Given the description of an element on the screen output the (x, y) to click on. 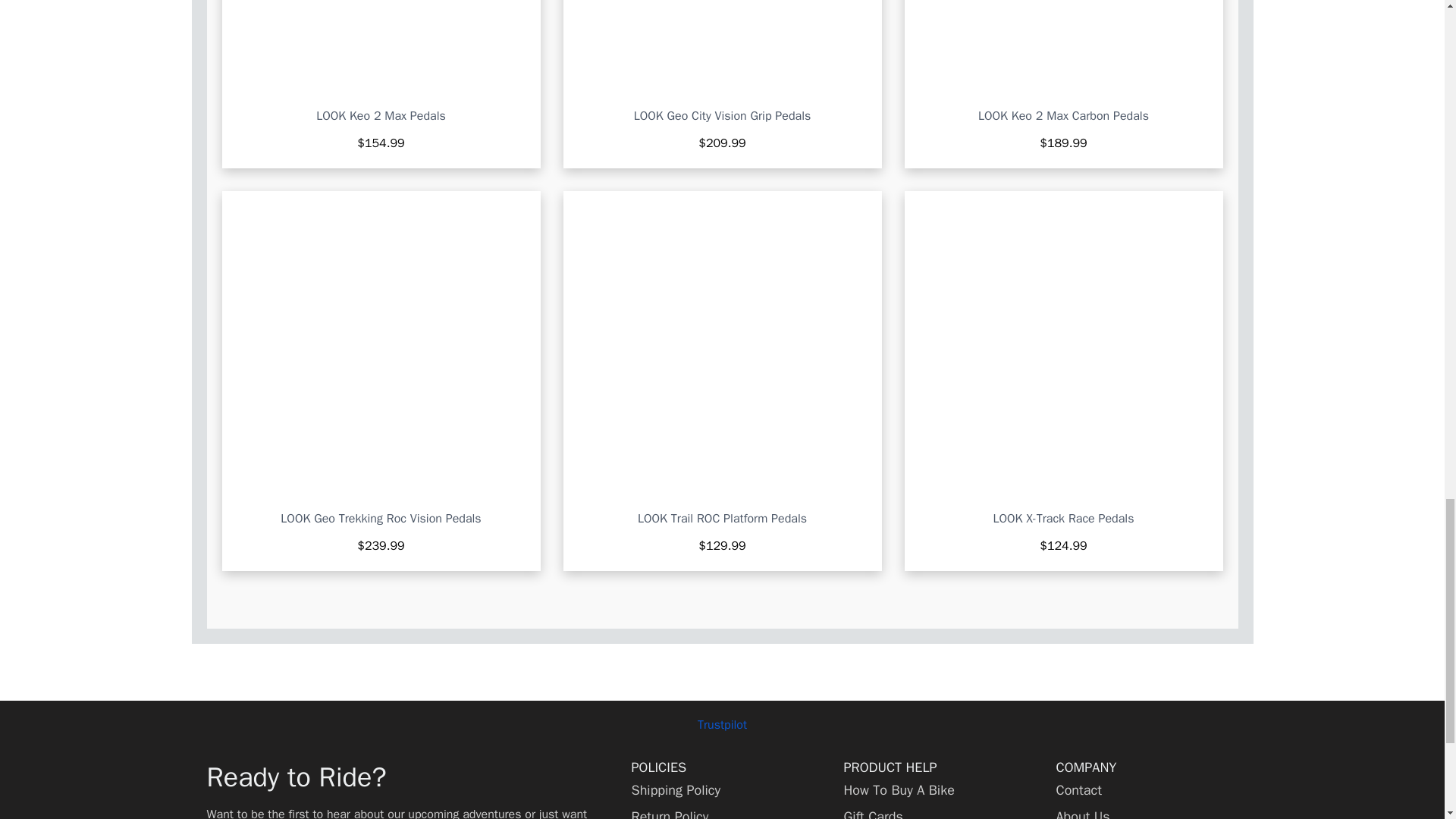
LOOK Geo Trekking Roc Vision Pedals (380, 519)
LOOK Geo City Vision Grip Pedals (721, 116)
LOOK Keo 2 Max Pedals (380, 116)
LOOK Keo 2 Max Carbon Pedals (1063, 116)
